Given the description of an element on the screen output the (x, y) to click on. 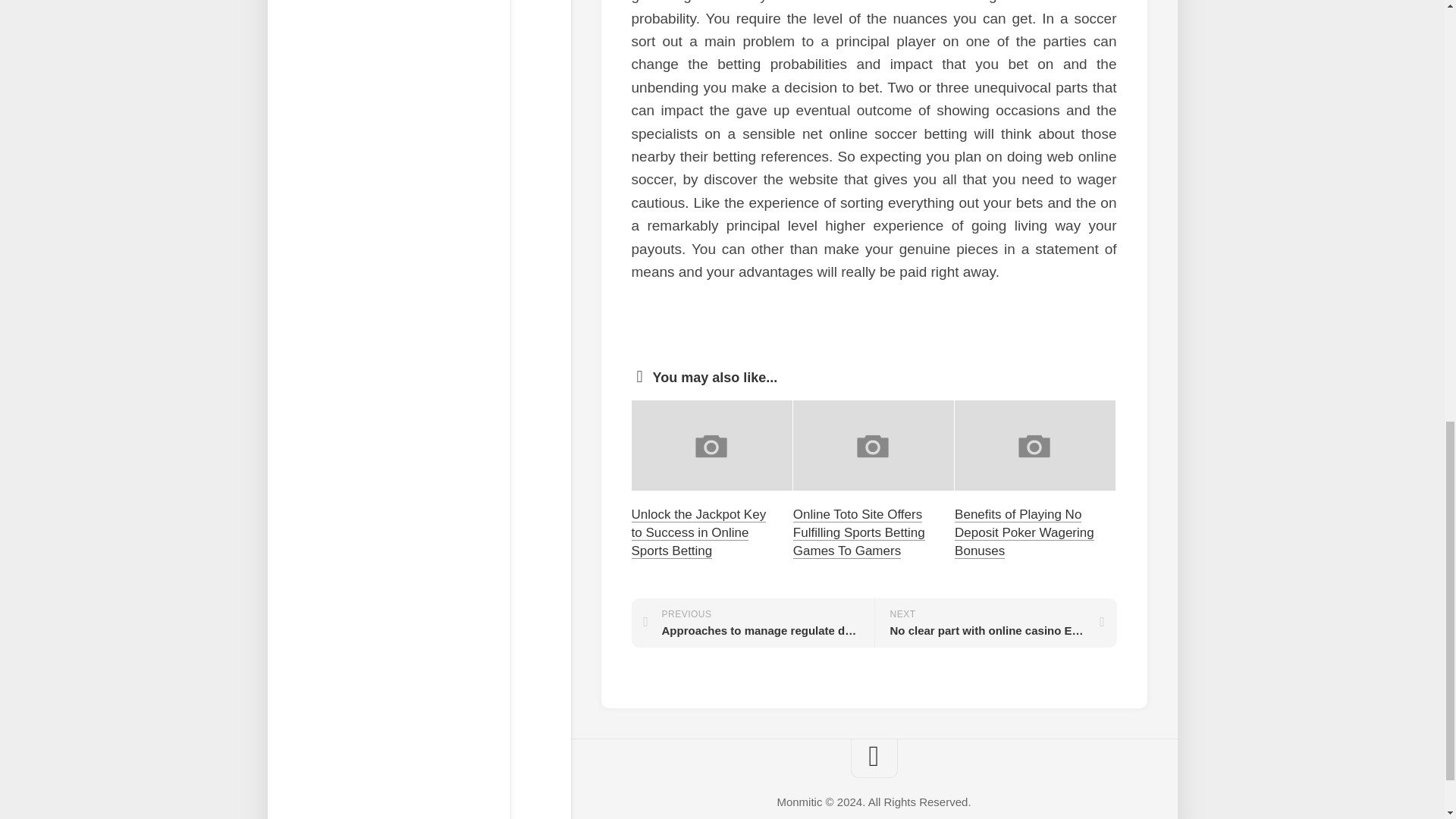
Benefits of Playing No Deposit Poker Wagering Bonuses (1024, 531)
Unlock the Jackpot Key to Success in Online Sports Betting (697, 531)
